Given the description of an element on the screen output the (x, y) to click on. 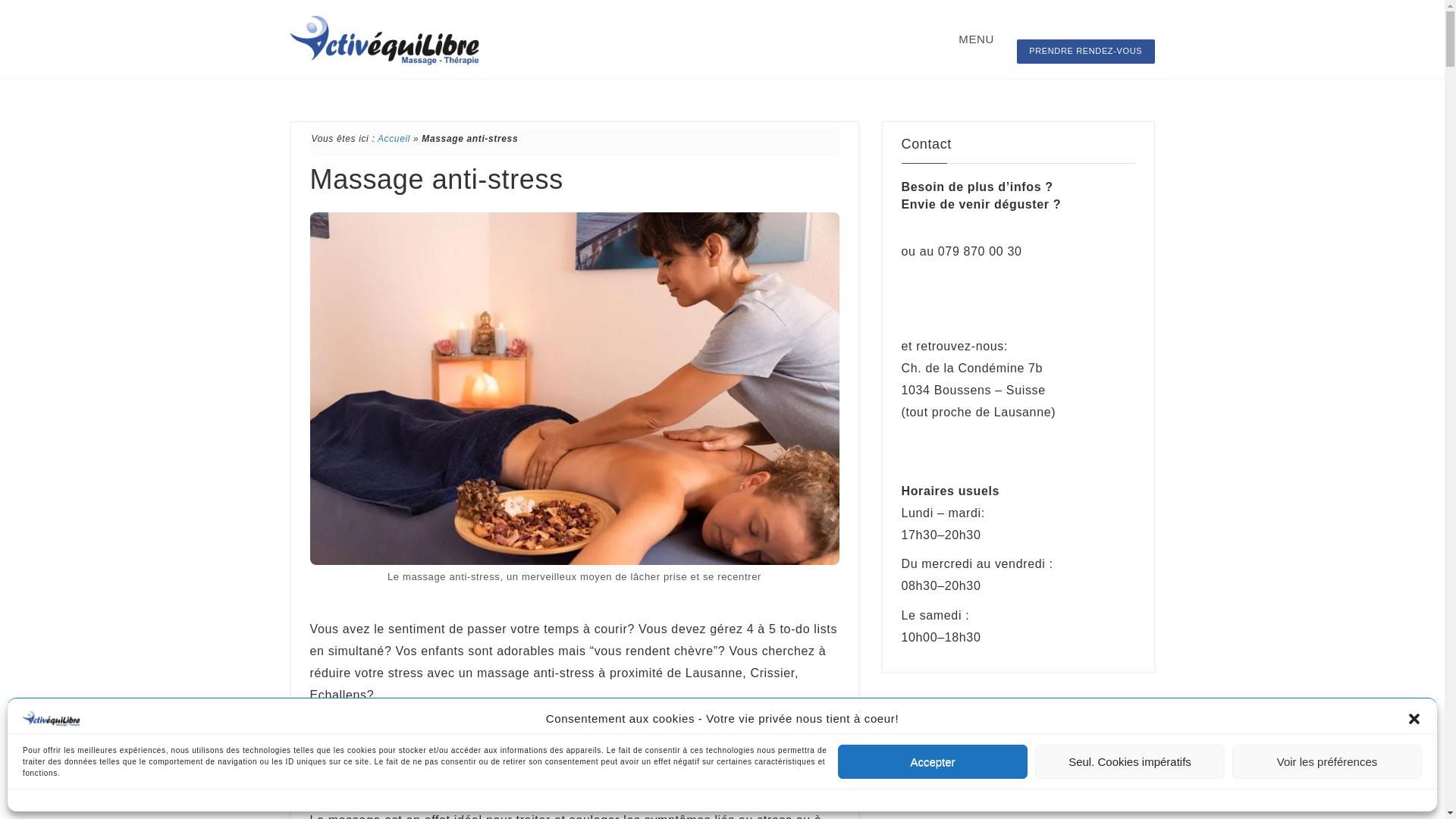
Accepter Element type: text (932, 761)
stress Element type: text (615, 734)
Prendre rendez-vous Element type: text (978, 299)
Accueil Element type: text (393, 138)
MENU Element type: text (975, 38)
Burn-Out Element type: text (746, 756)
Lien Google Maps Element type: text (967, 441)
PRENDRE RENDEZ-VOUS Element type: text (1085, 51)
Rechercher Element type: text (944, 763)
